Given the description of an element on the screen output the (x, y) to click on. 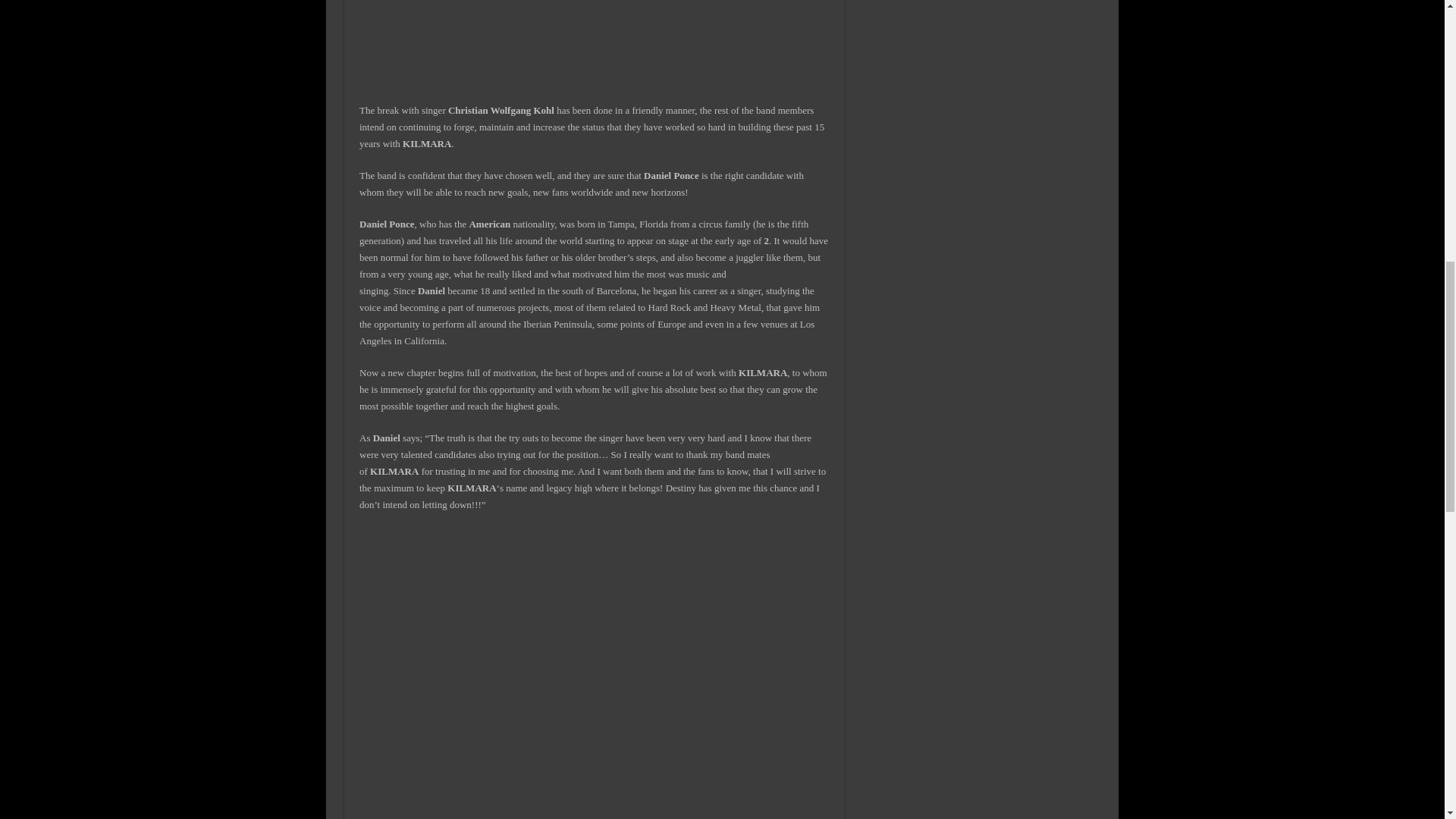
Scroll To Top (1421, 60)
